Given the description of an element on the screen output the (x, y) to click on. 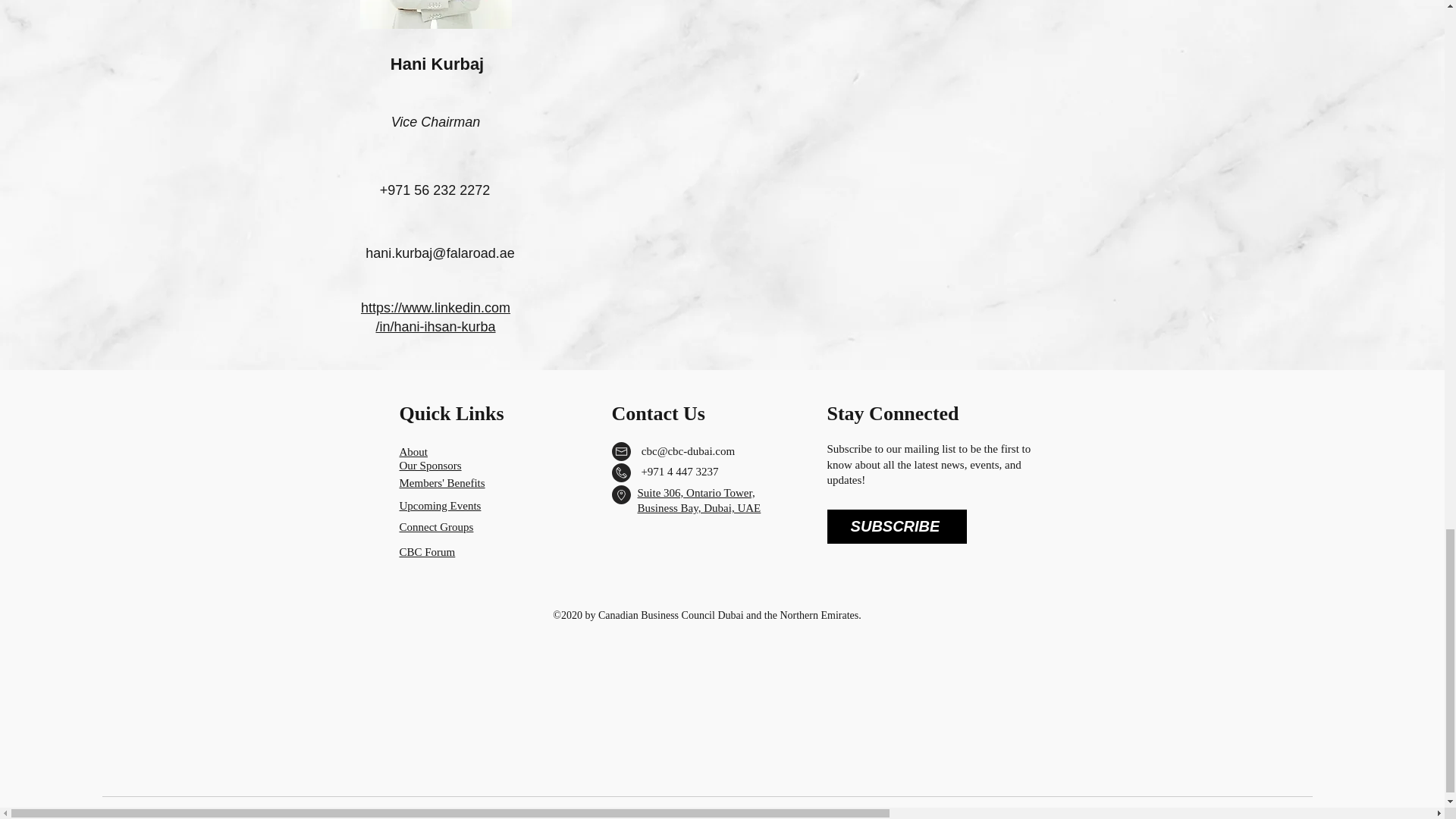
Mr. Hani photo.jpg (435, 14)
